Given the description of an element on the screen output the (x, y) to click on. 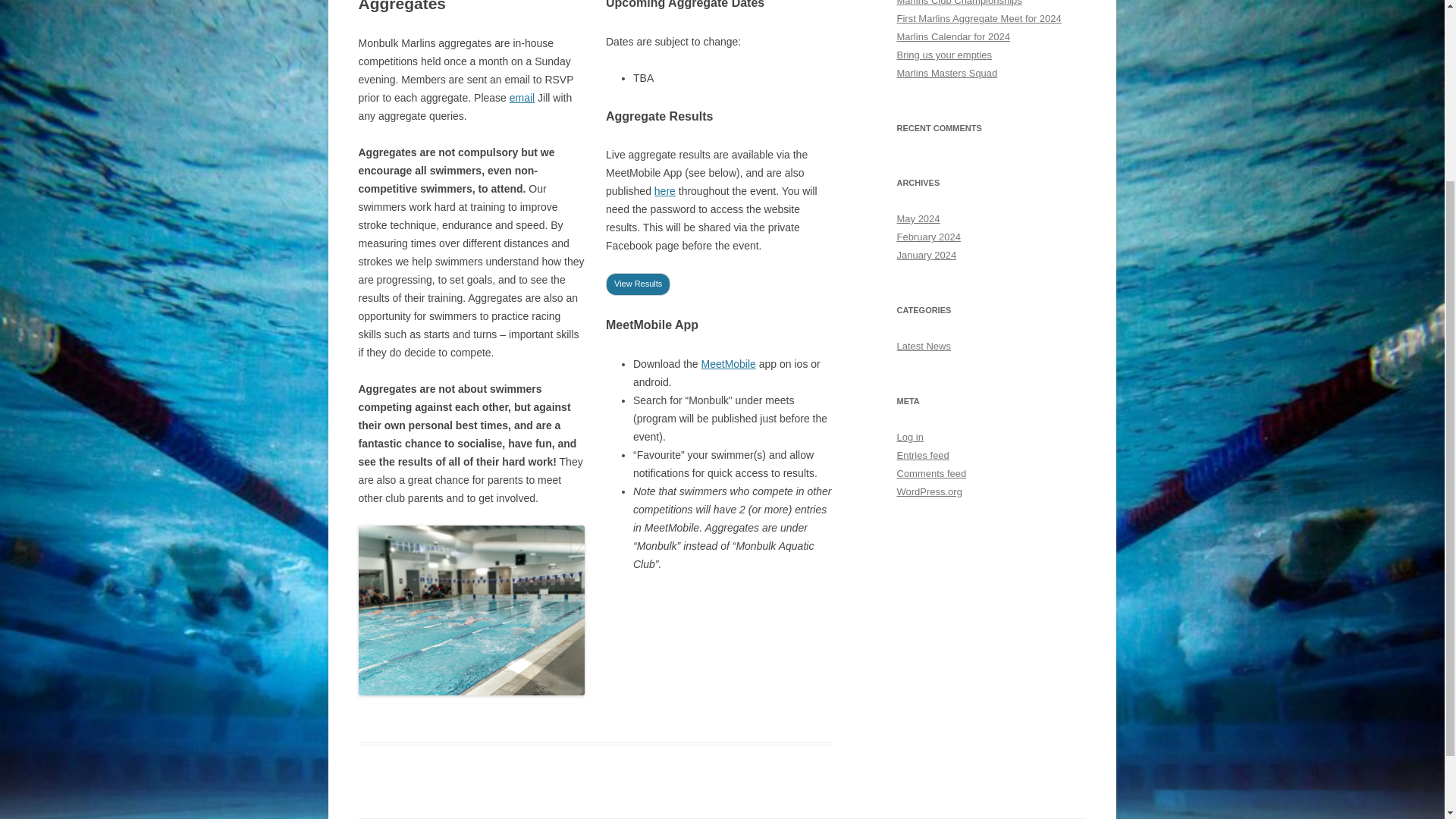
Latest News (923, 346)
Bring us your empties (943, 54)
Marlins Masters Squad (946, 72)
February 2024 (927, 236)
First Marlins Aggregate Meet for 2024 (978, 18)
here (664, 191)
email (521, 97)
Marlins Calendar for 2024 (952, 36)
January 2024 (926, 255)
MeetMobile (728, 363)
Marlins Club Championships (959, 2)
View Results (637, 283)
May 2024 (917, 218)
